Given the description of an element on the screen output the (x, y) to click on. 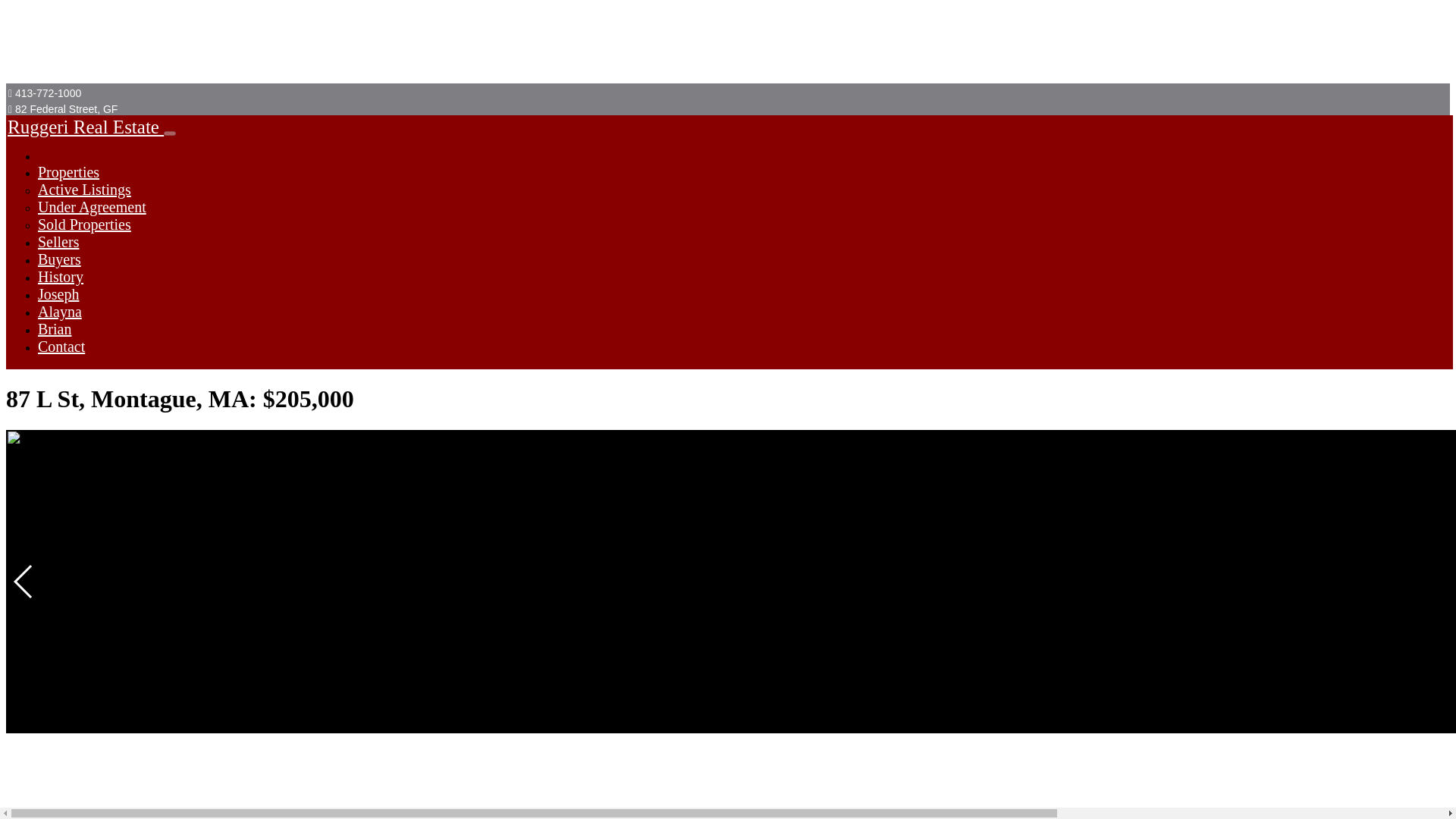
Alayna (59, 311)
Joseph (57, 293)
Ruggeri Real Estate (85, 127)
Buyers (59, 258)
Under Agreement (92, 207)
Sold Properties (84, 224)
Sellers (57, 241)
History (59, 276)
Contact (60, 346)
Properties (68, 171)
